Given the description of an element on the screen output the (x, y) to click on. 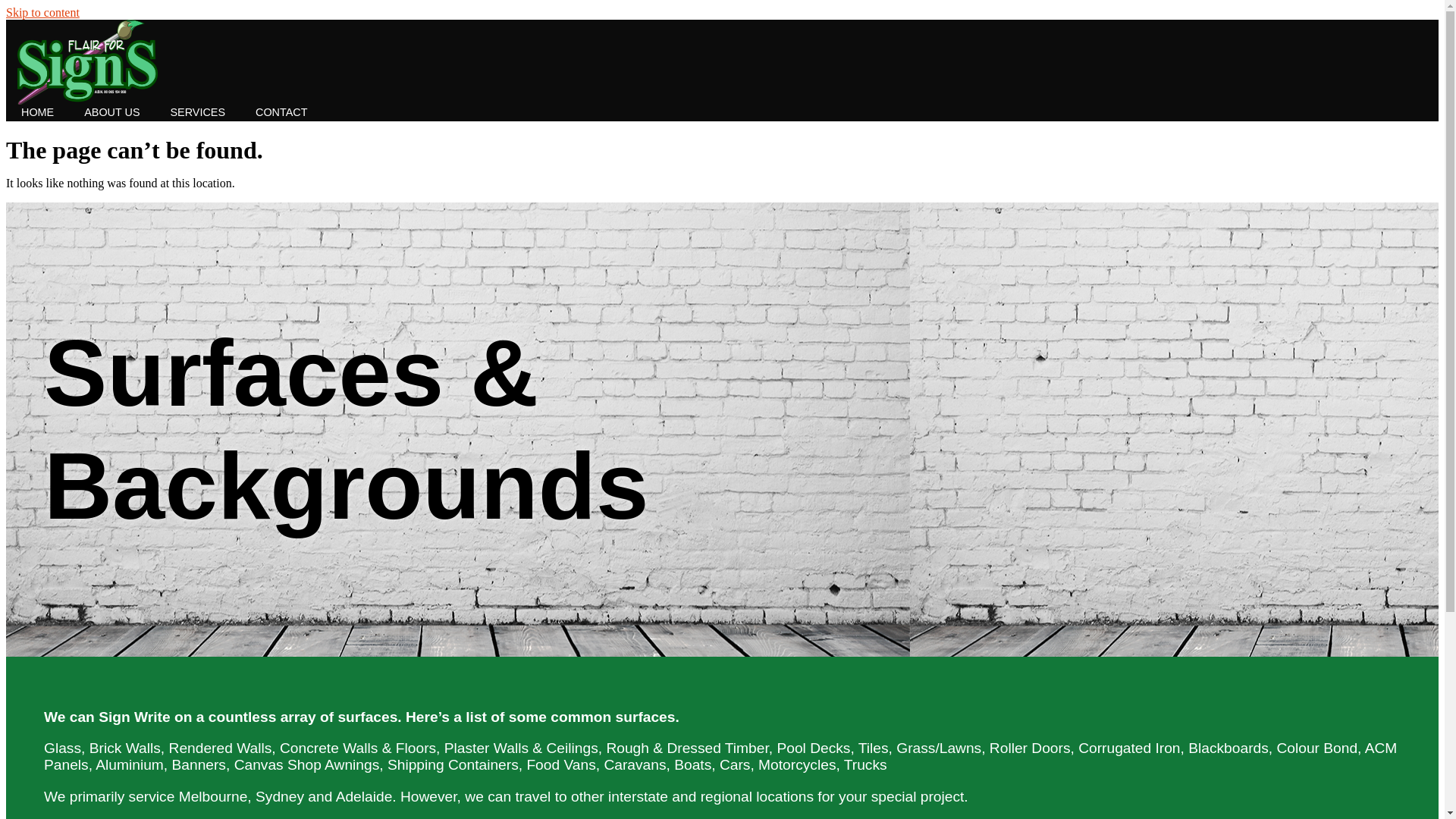
ABOUT US Element type: text (111, 112)
Skip to content Element type: text (42, 12)
HOME Element type: text (37, 112)
SERVICES Element type: text (197, 112)
CONTACT Element type: text (281, 112)
